Given the description of an element on the screen output the (x, y) to click on. 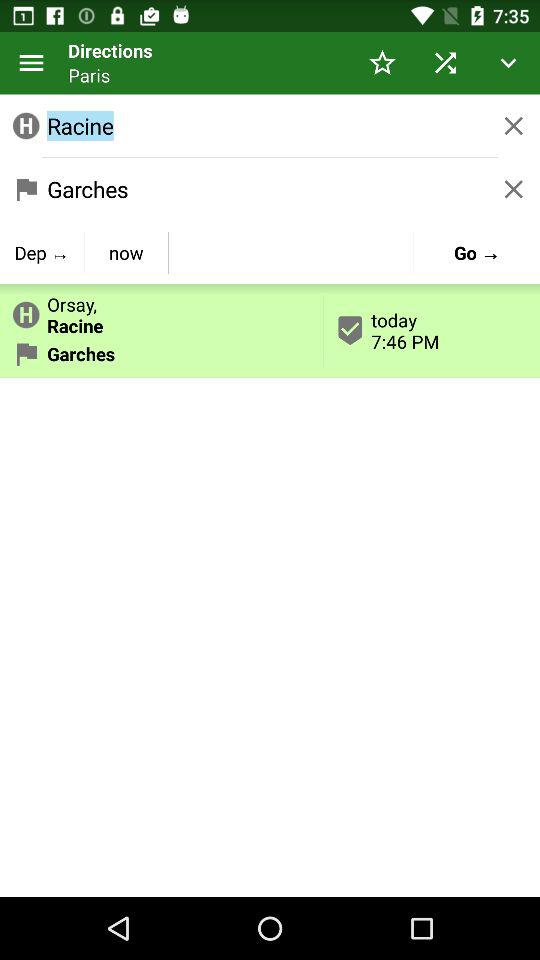
press item above the racine icon (381, 62)
